Given the description of an element on the screen output the (x, y) to click on. 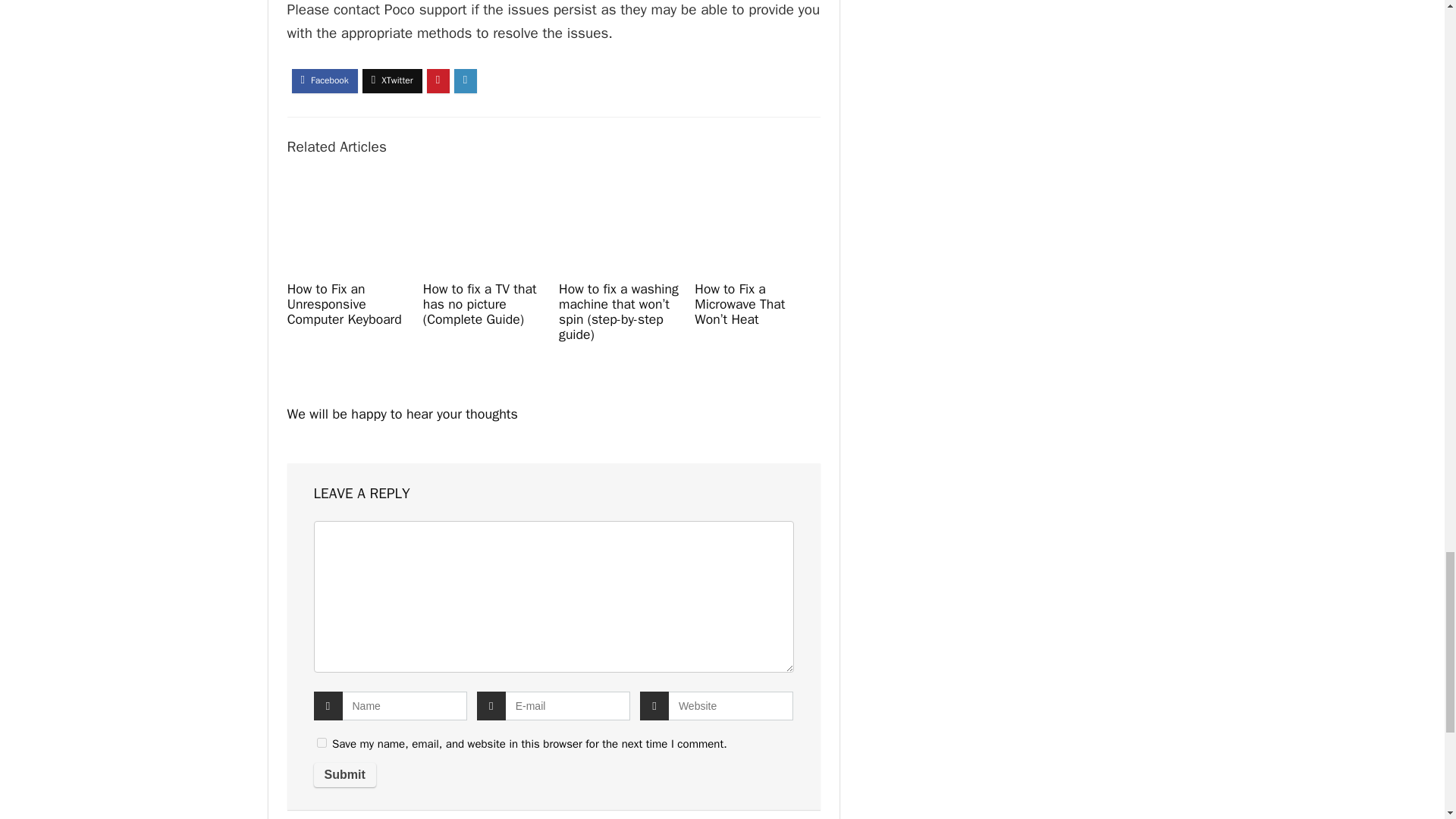
How to Fix an Unresponsive Computer Keyboard (343, 303)
yes (321, 742)
Submit (344, 774)
Submit (344, 774)
